Given the description of an element on the screen output the (x, y) to click on. 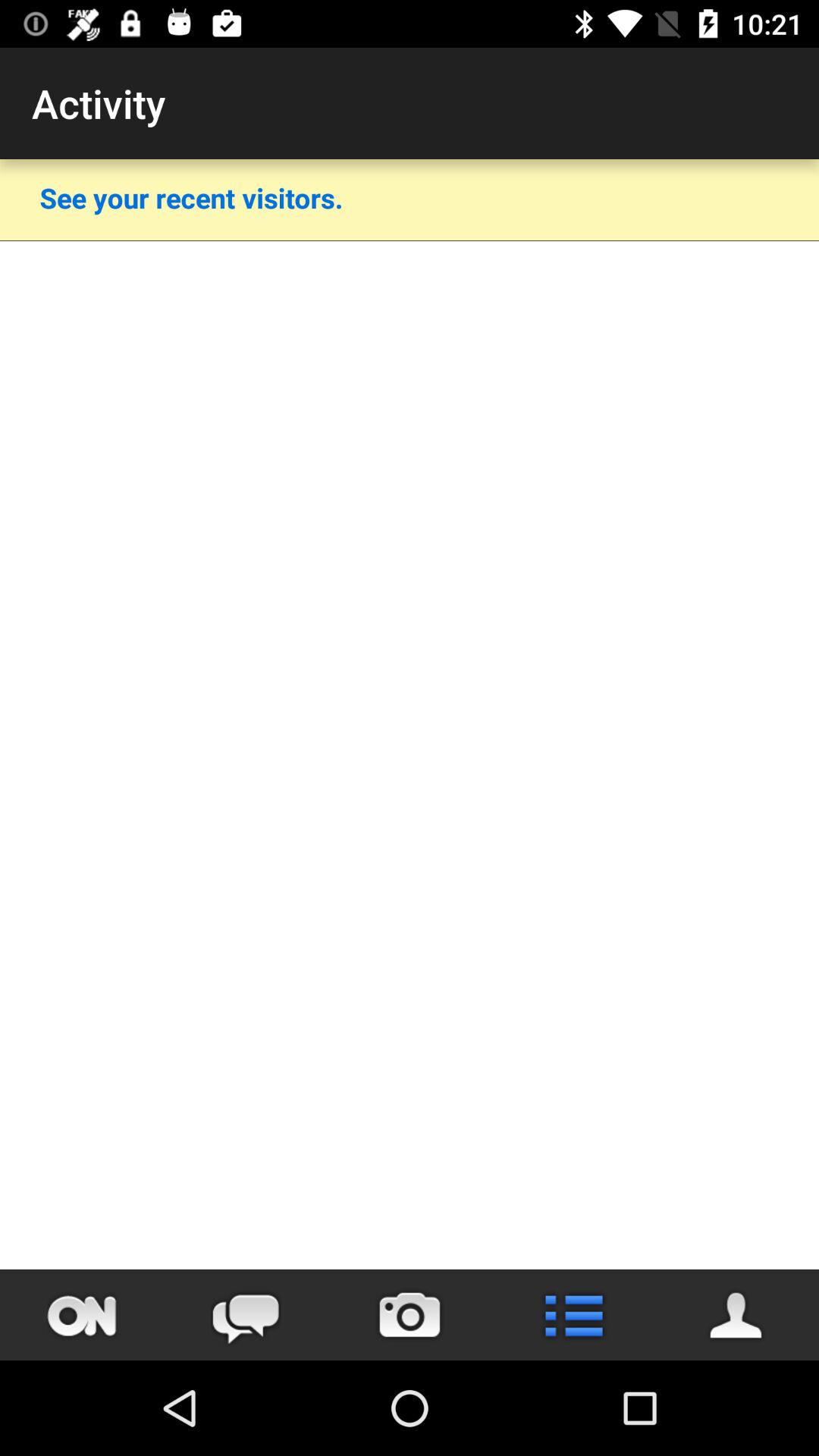
navigate the app (81, 1315)
